Given the description of an element on the screen output the (x, y) to click on. 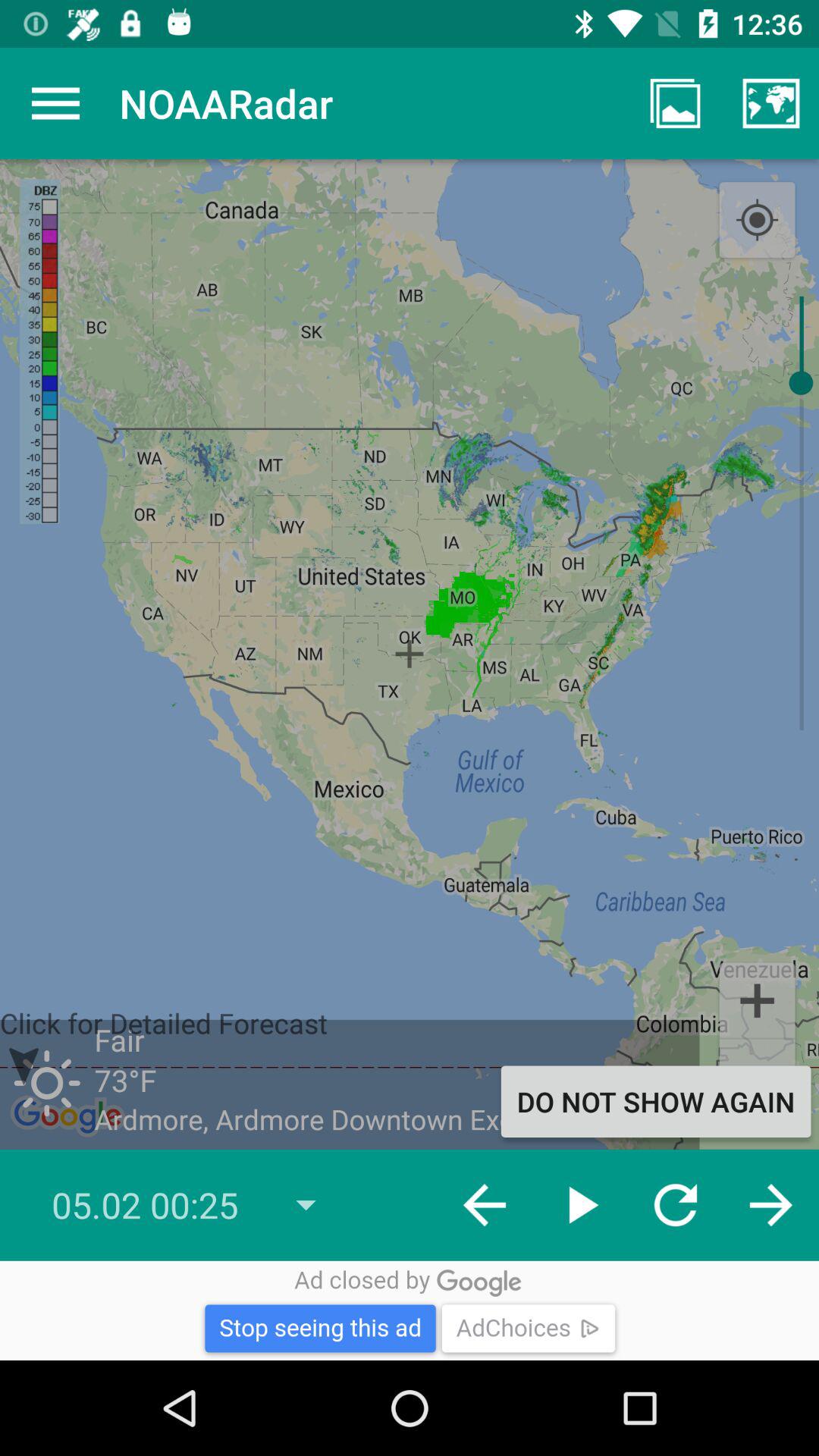
advertisement (409, 1310)
